Given the description of an element on the screen output the (x, y) to click on. 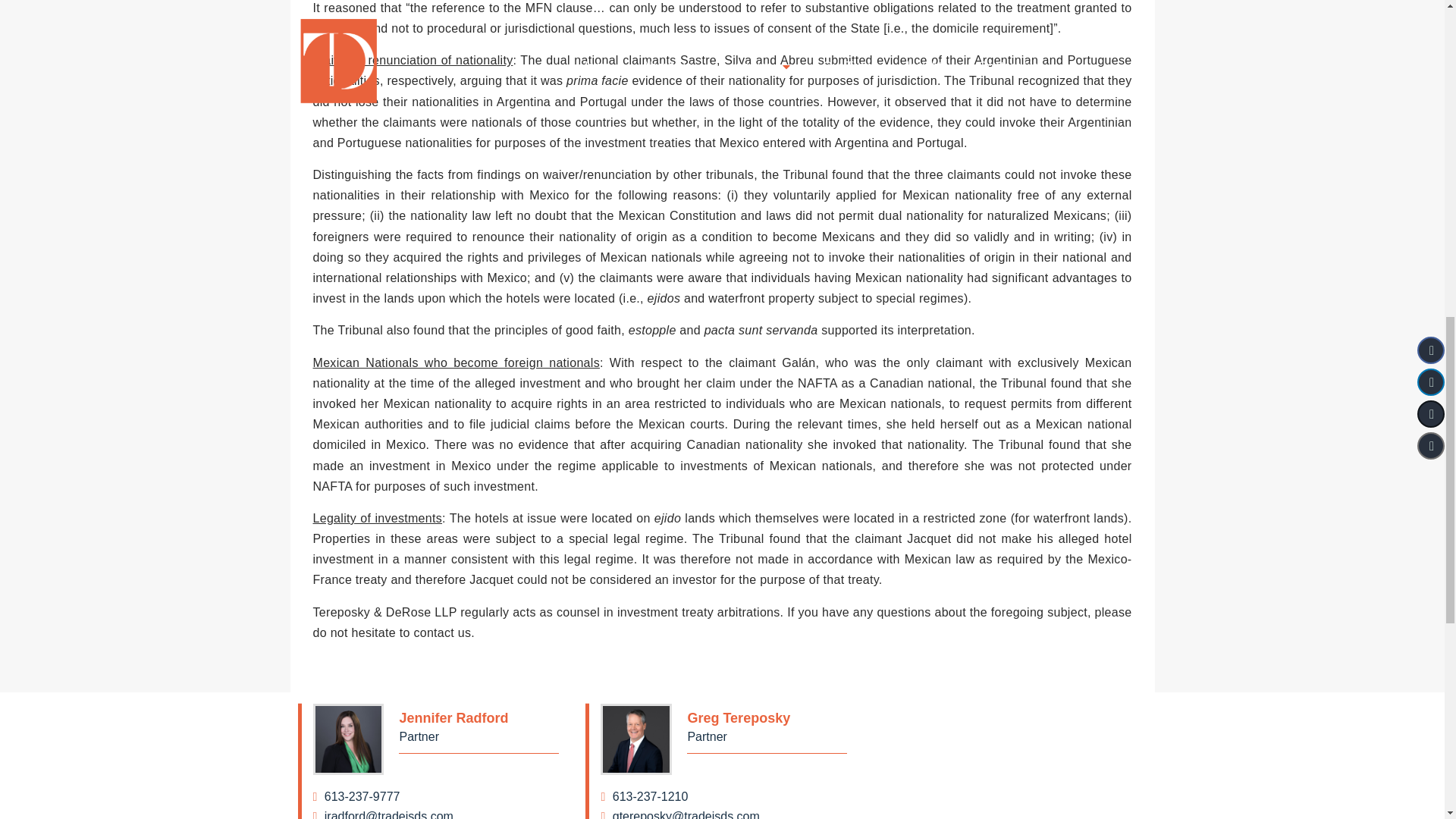
Jennifer Radford (436, 814)
Jennifer Radford (436, 796)
Greg Tereposky (767, 718)
Jennifer Radford (348, 738)
Greg Tereposky (723, 814)
Jennifer Radford (478, 718)
Greg Tereposky (635, 738)
Greg Tereposky (723, 796)
